Given the description of an element on the screen output the (x, y) to click on. 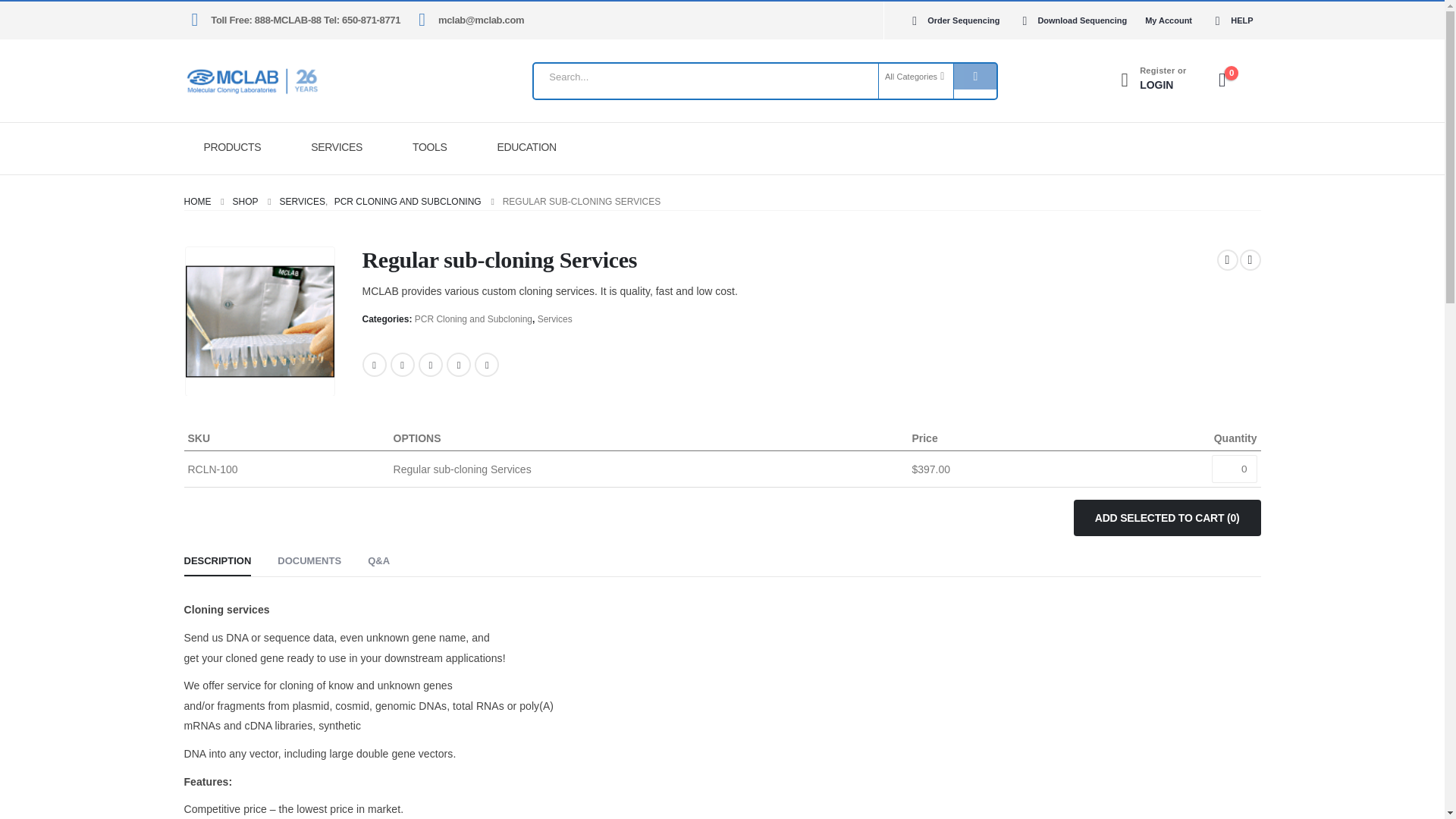
Search (974, 76)
PRODUCTS (236, 146)
Phone (1156, 80)
hold plate (258, 321)
Order Sequencing (953, 20)
My Account (1168, 20)
HELP (1229, 20)
Go to Home Page (197, 201)
0 (1234, 469)
Download Sequencing (1072, 20)
Qty (1234, 469)
